Given the description of an element on the screen output the (x, y) to click on. 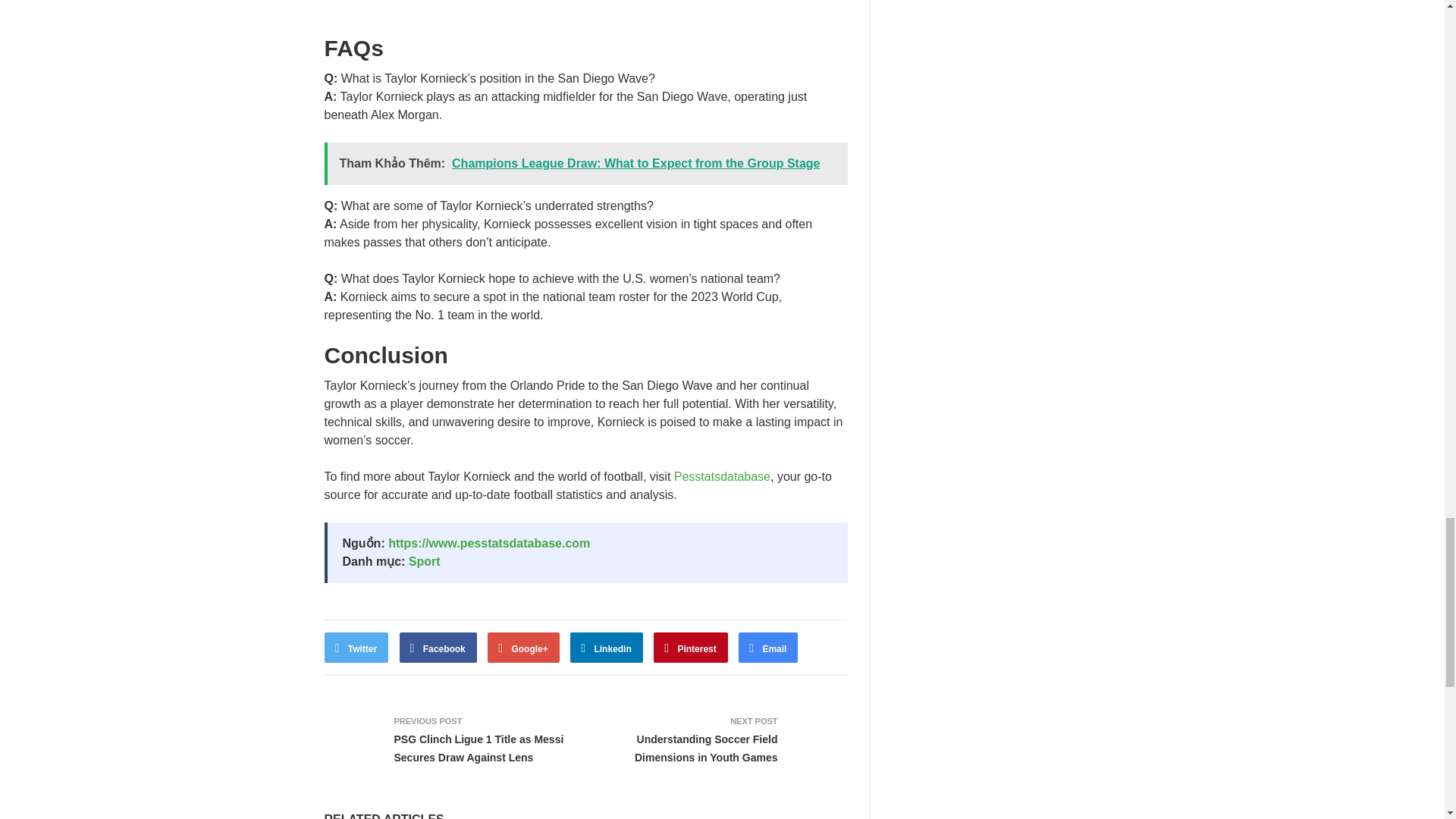
Understanding Soccer Field Dimensions in Youth Games (705, 748)
Pinterest (690, 647)
Facebook (437, 647)
Pesstatsdatabase (722, 476)
Linkedin (606, 647)
Email (767, 647)
Sport (425, 561)
PSG Clinch Ligue 1 Title as Messi Secures Draw Against Lens (479, 748)
Twitter (356, 647)
